Given the description of an element on the screen output the (x, y) to click on. 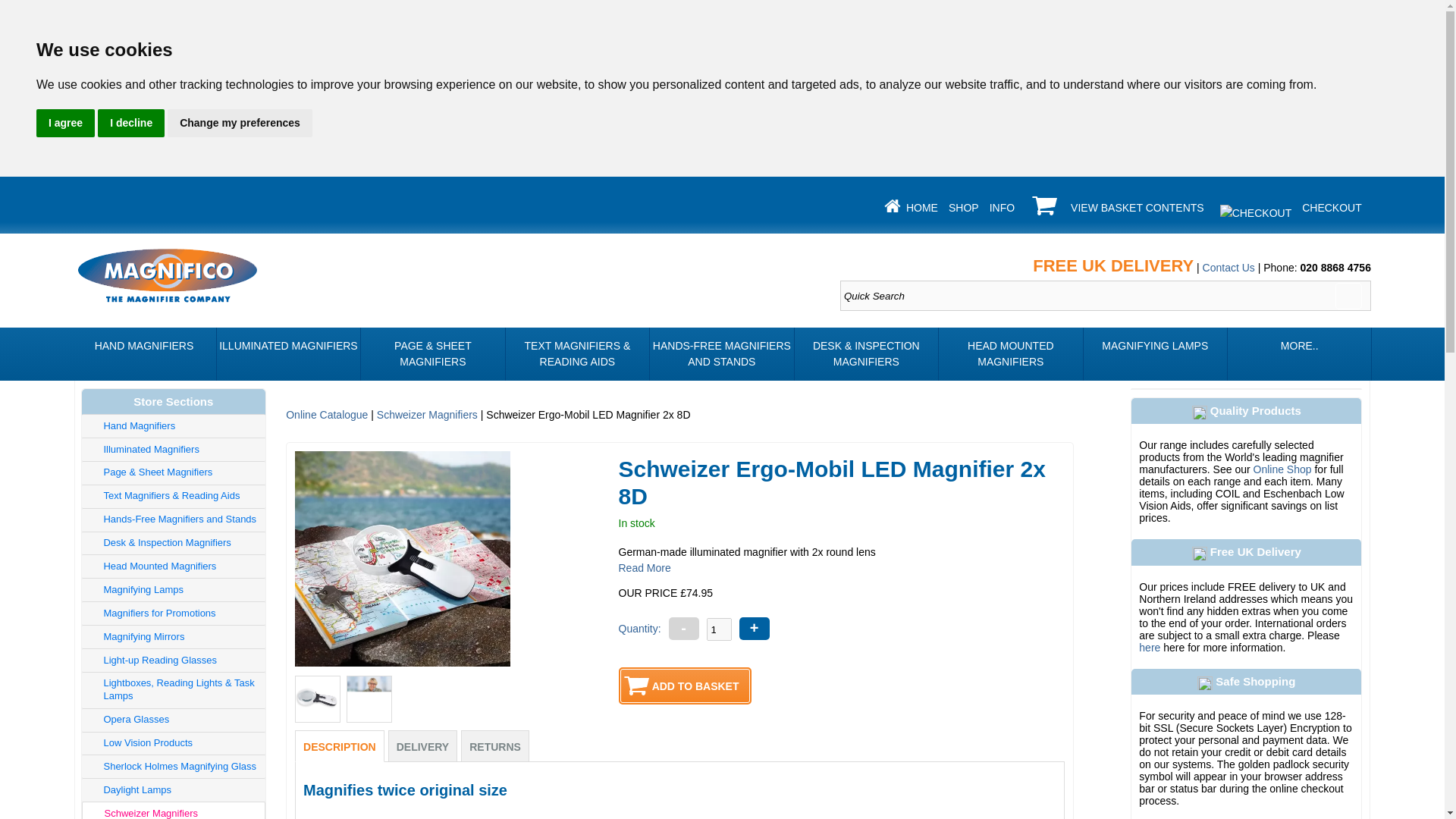
Online Catalogue (326, 414)
I agree (65, 122)
CHECKOUT (1331, 207)
Quick Search (1105, 295)
Go! (1348, 295)
Change my preferences (240, 122)
HAND MAGNIFIERS (143, 353)
MAGNIFYING LAMPS (1155, 353)
MORE.. (1299, 353)
1 (719, 629)
Add to Basket (684, 685)
INFO (1002, 207)
 Schweizer Ergo-Mobil LED Magnifier 2x 8D (317, 698)
Quick Search (1105, 295)
HANDS-FREE MAGNIFIERS AND STANDS (721, 353)
